Given the description of an element on the screen output the (x, y) to click on. 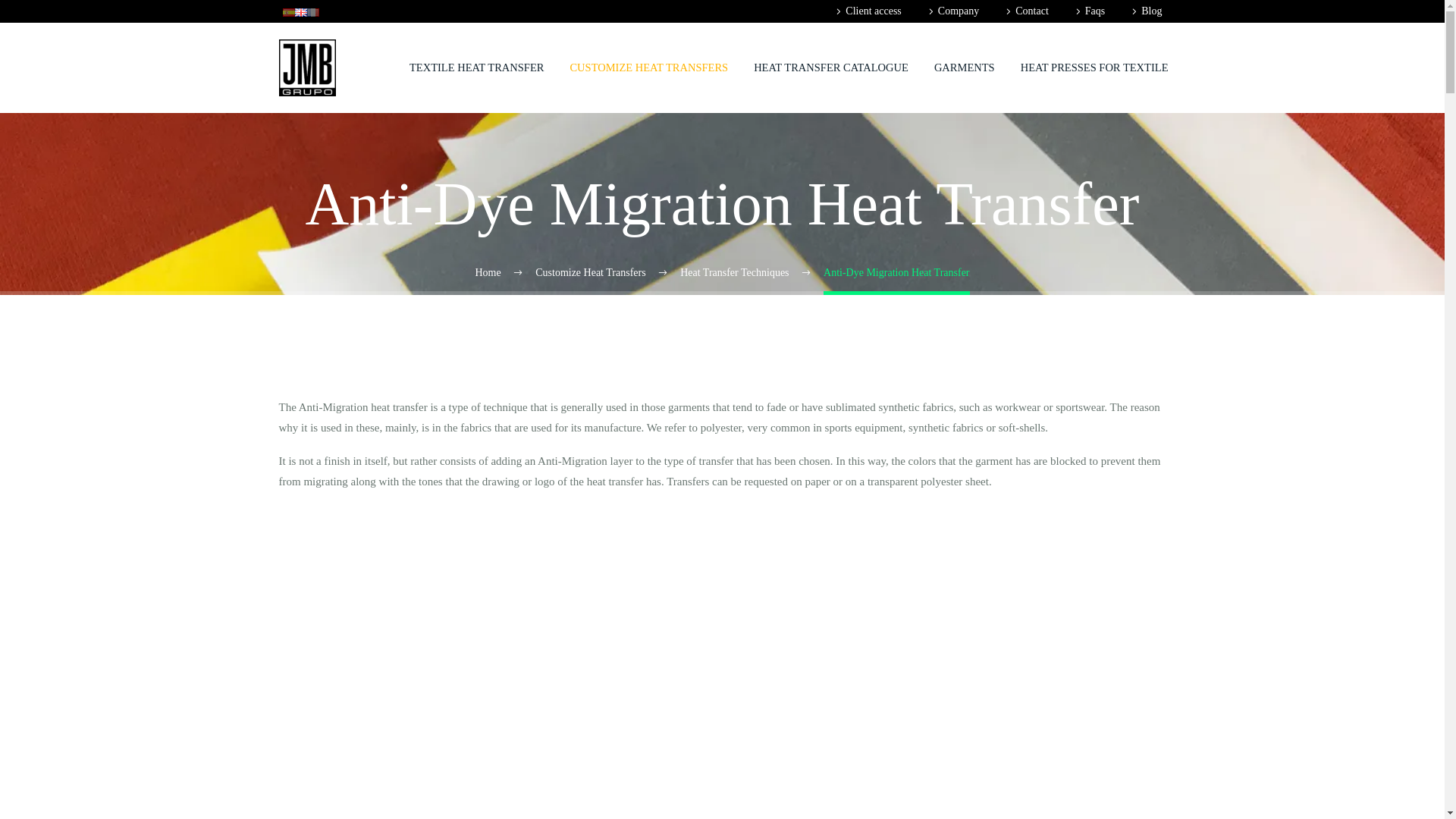
Contact (1024, 11)
Blog (1143, 11)
Client access (866, 11)
TEXTILE HEAT TRANSFER (476, 67)
Faqs (1088, 11)
Company (951, 11)
CUSTOMIZE HEAT TRANSFERS (648, 67)
